Given the description of an element on the screen output the (x, y) to click on. 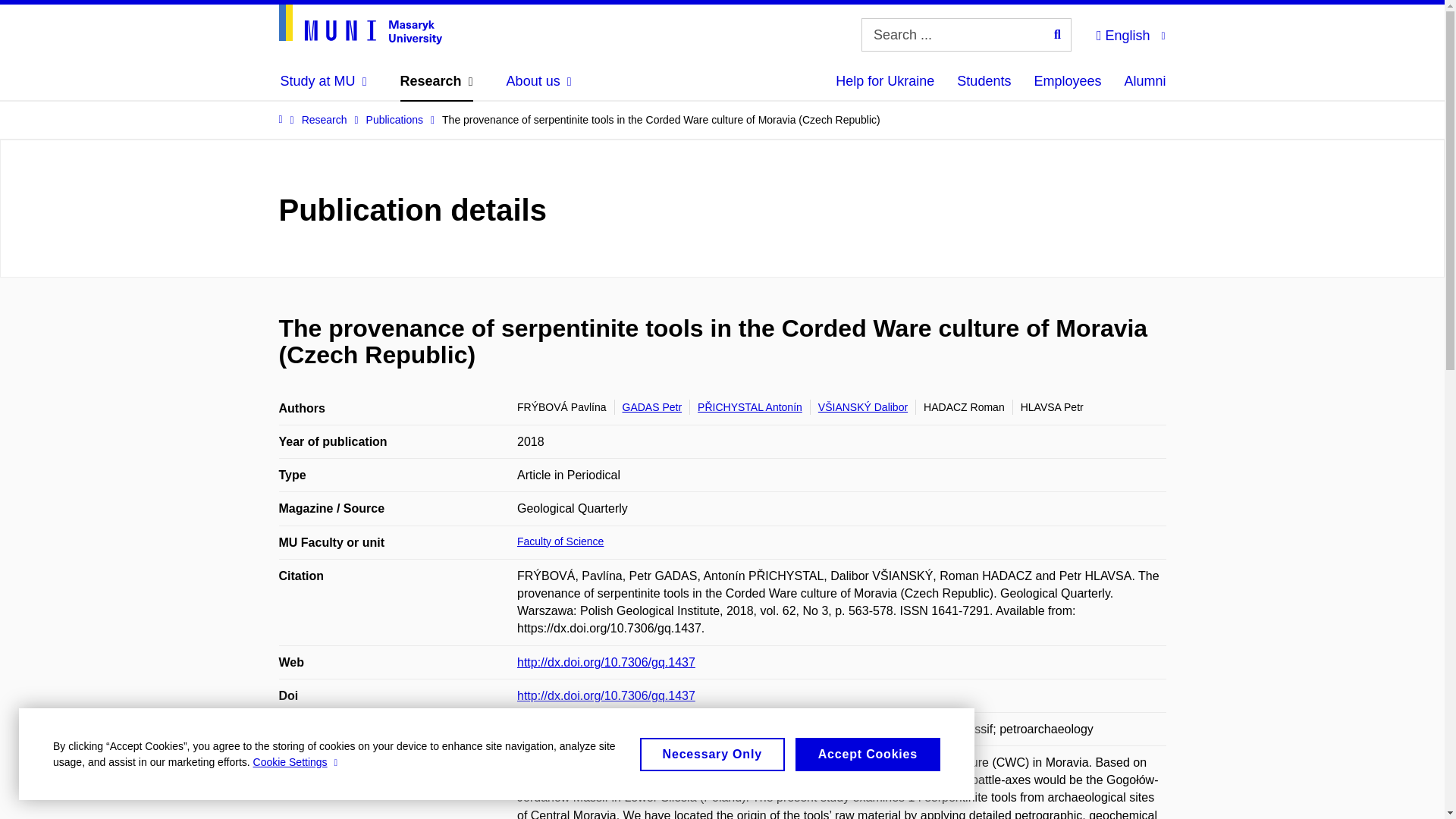
Research (436, 80)
English (1130, 34)
Homepage site (360, 24)
Study at MU (323, 80)
